Given the description of an element on the screen output the (x, y) to click on. 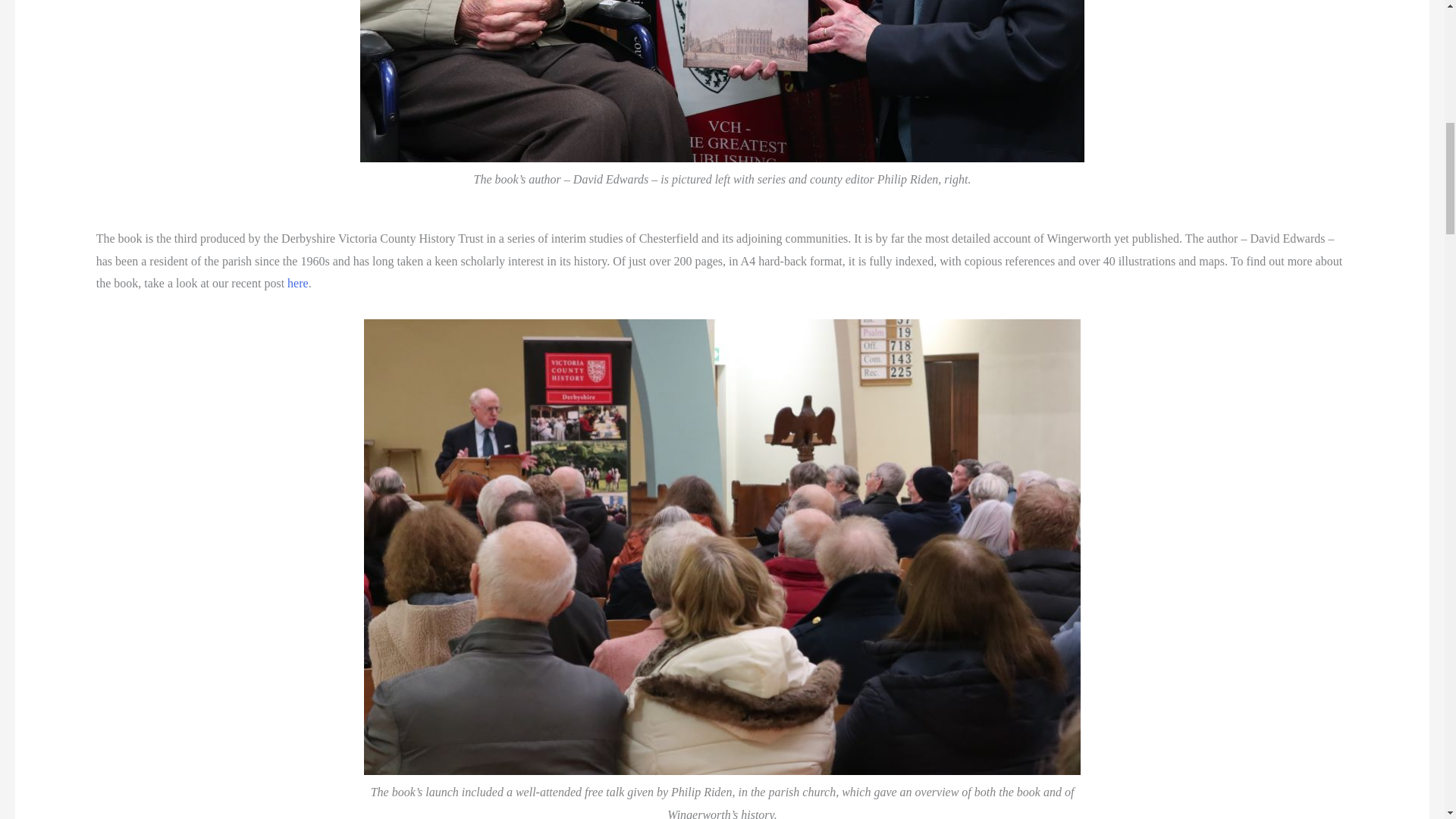
here (297, 282)
